Given the description of an element on the screen output the (x, y) to click on. 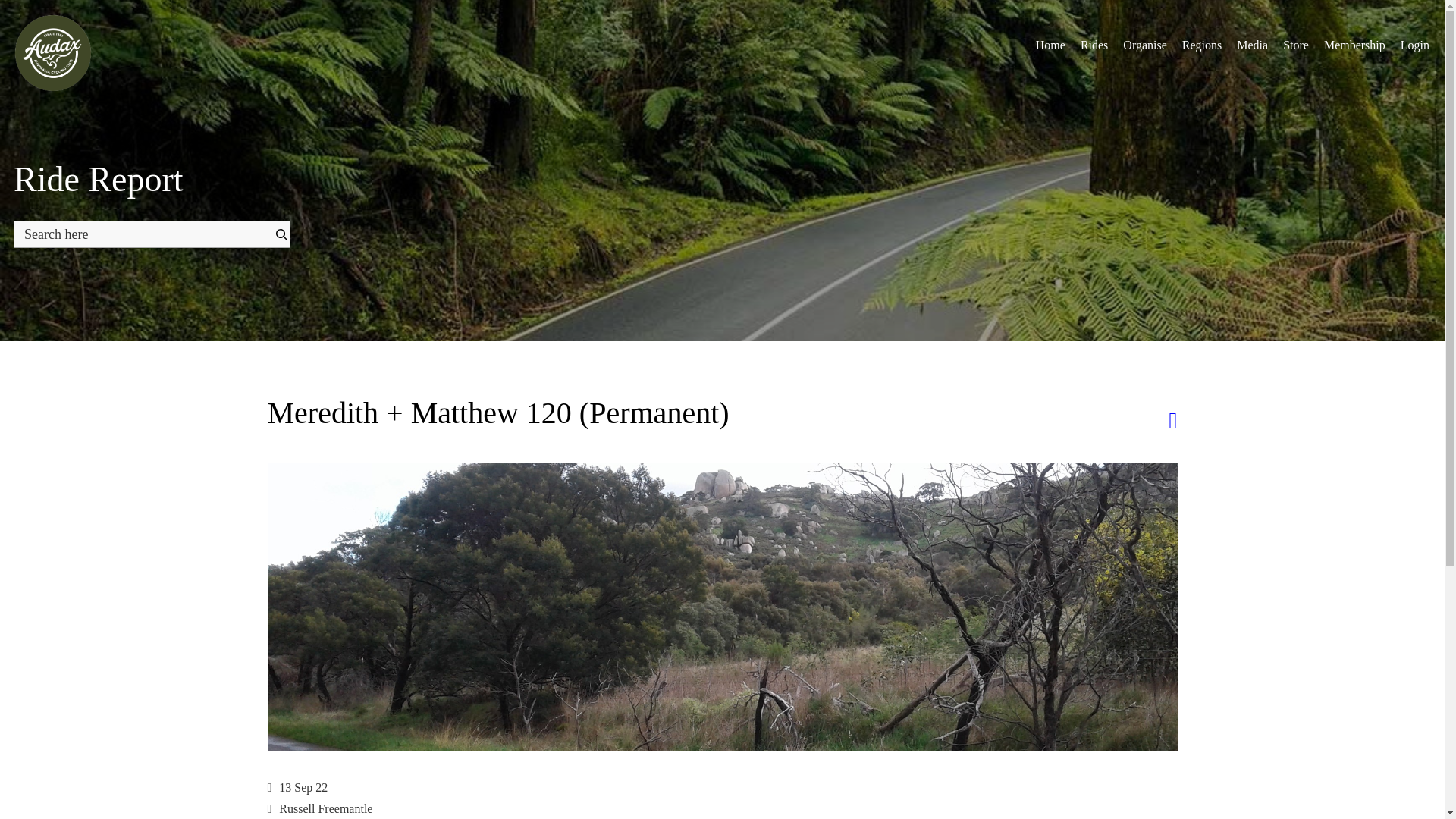
Rides (1094, 45)
Media (1251, 45)
Regions (1201, 45)
Organise (1144, 45)
Home (1050, 45)
